Given the description of an element on the screen output the (x, y) to click on. 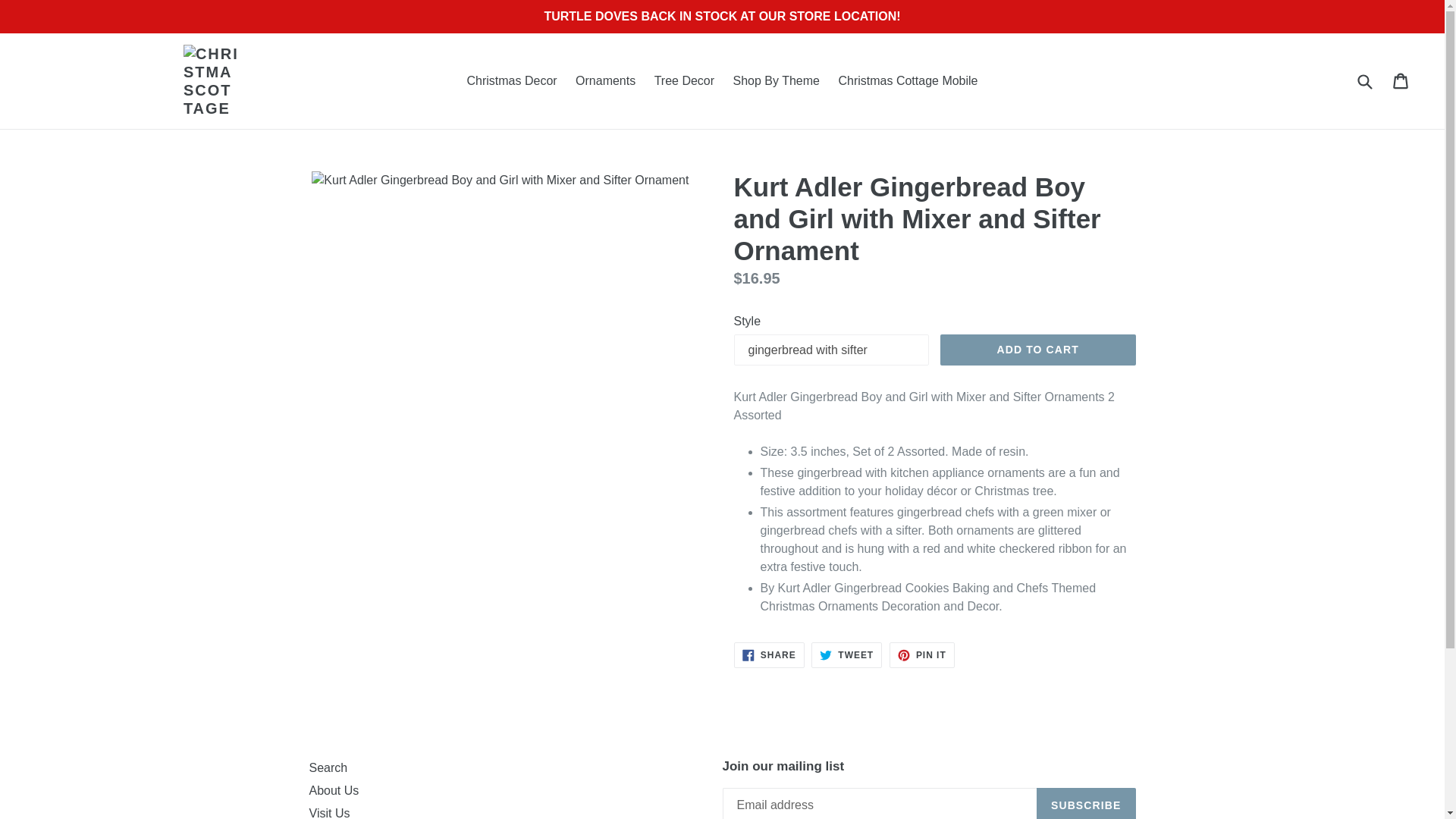
Tree Decor (684, 80)
SUBSCRIBE (846, 655)
Visit Us (922, 655)
Christmas Cottage Mobile (1085, 803)
ADD TO CART (329, 812)
Share on Facebook (907, 80)
About Us (1037, 350)
Ornaments (769, 655)
Christmas Decor (333, 789)
Shop By Theme (605, 80)
Pin on Pinterest (769, 655)
Tweet on Twitter (511, 80)
